Given the description of an element on the screen output the (x, y) to click on. 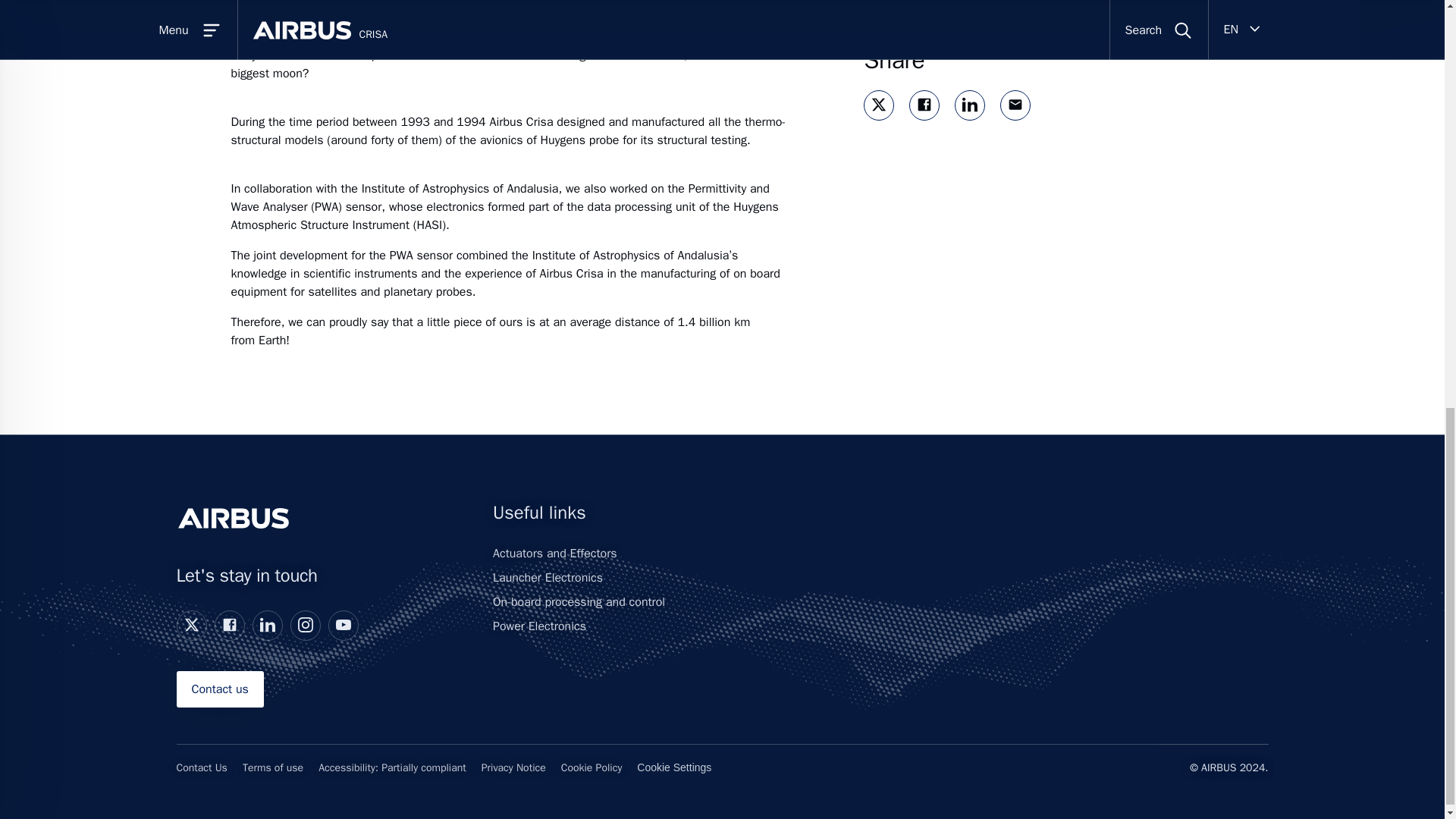
Facebook (229, 625)
crisa Linkedin (970, 105)
crisa Mail (1015, 104)
Instagram (304, 625)
Facebook (228, 624)
Linkedin (267, 624)
crisa Mail (1015, 105)
Linkedin (266, 625)
crisa Linkedin (969, 104)
crisa X (878, 104)
Instagram (305, 624)
Youtube (342, 624)
X (191, 625)
Youtube (342, 625)
X (190, 624)
